Given the description of an element on the screen output the (x, y) to click on. 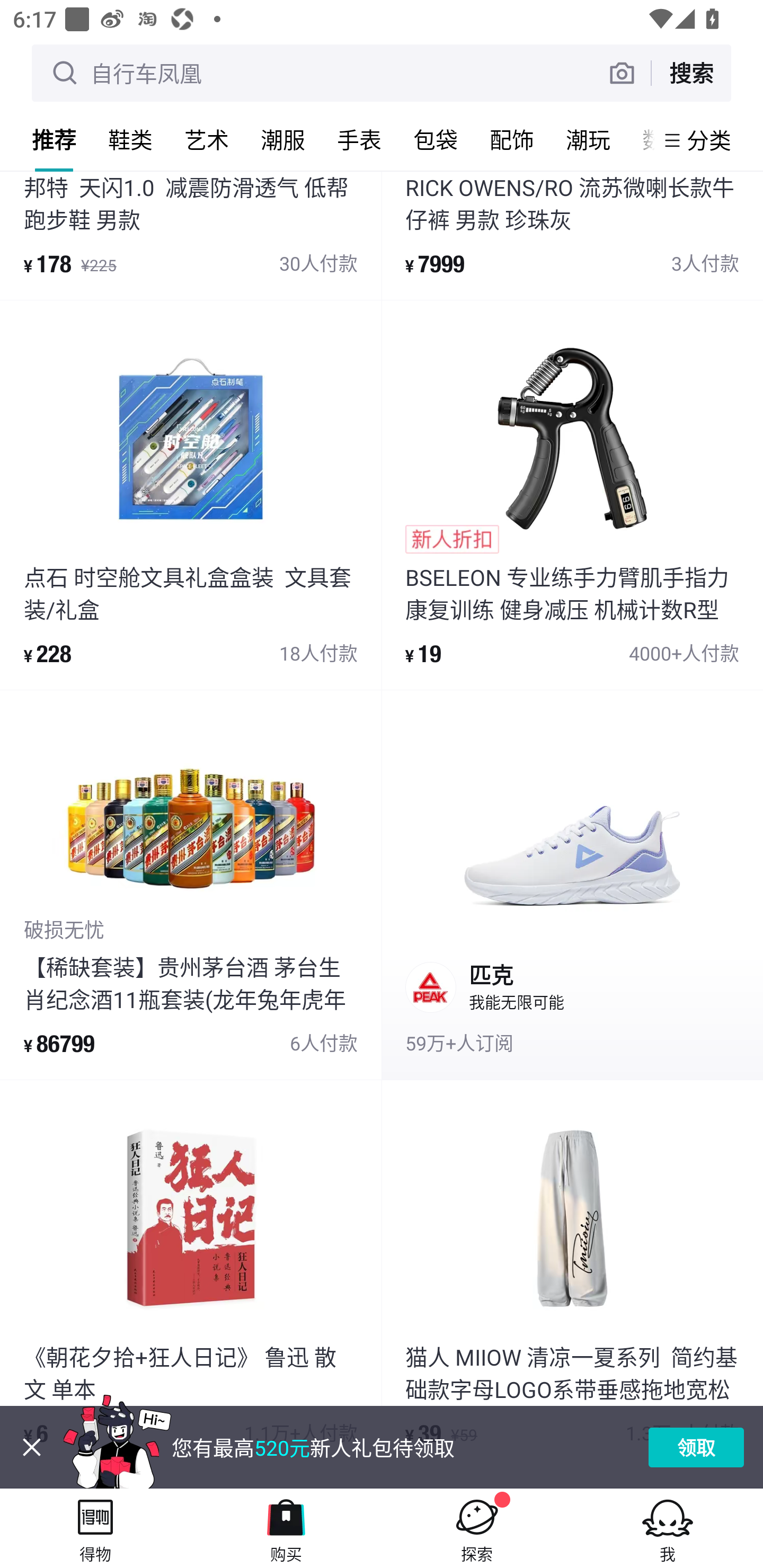
自行车凤凰 搜索 (381, 72)
搜索 (690, 72)
推荐 (54, 139)
鞋类 (130, 139)
艺术 (206, 139)
潮服 (282, 139)
手表 (359, 139)
包袋 (435, 139)
配饰 (511, 139)
潮玩 (588, 139)
分类 (708, 139)
product_item 点石 时空舱文具礼盒盒装  文具套
装/礼盒 ¥ 228 18人付款 (190, 495)
匹克 我能无限可能 59万+人订阅 (572, 884)
product_item 《朝花夕拾+狂人日记》 鲁迅 散
文 单本 ¥ 6 1.1万+人付款 (190, 1274)
领取 (695, 1446)
得物 (95, 1528)
购买 (285, 1528)
探索 (476, 1528)
我 (667, 1528)
